Given the description of an element on the screen output the (x, y) to click on. 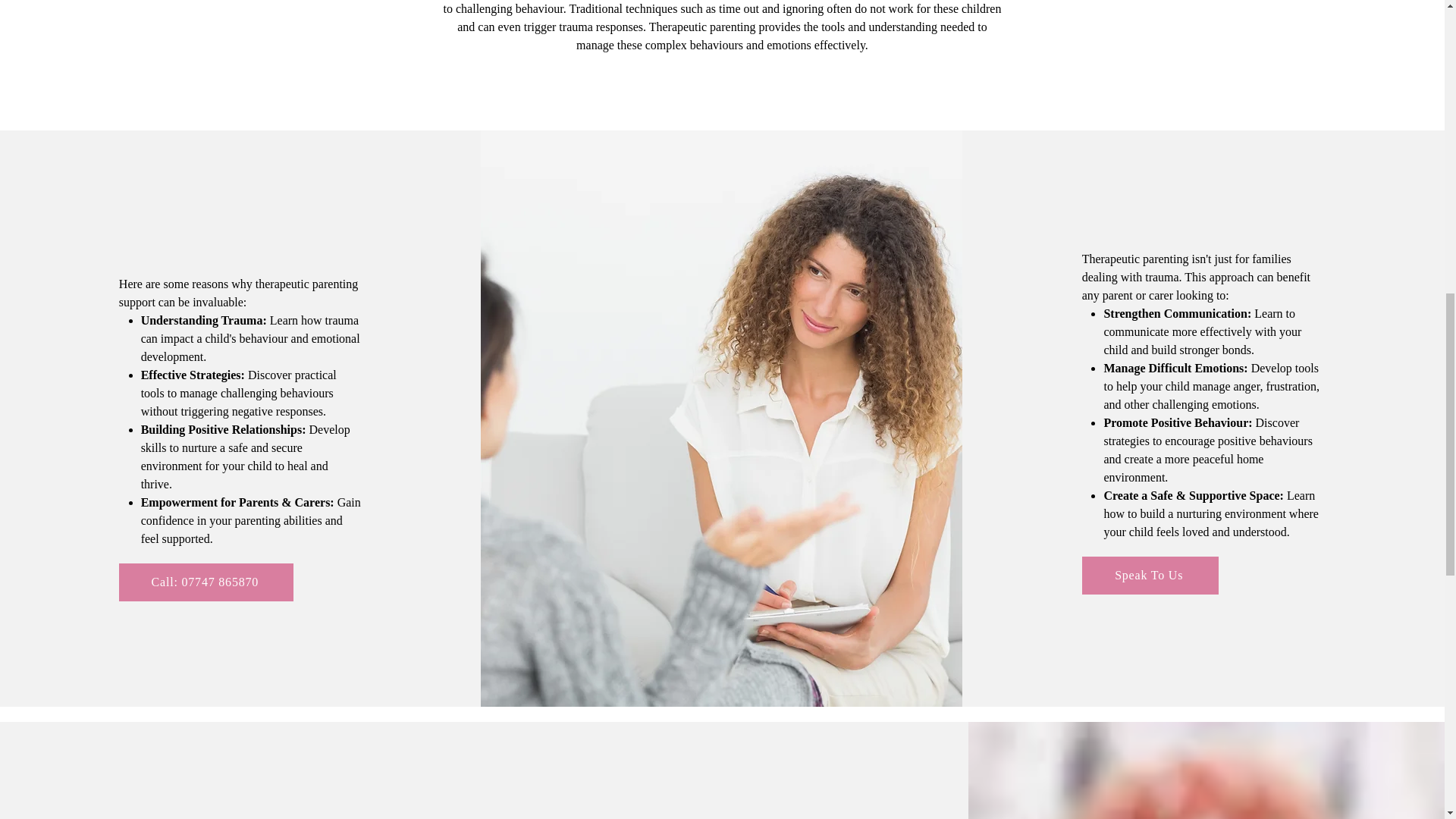
Call: 07747 865870 (206, 582)
Speak To Us (1149, 575)
